Given the description of an element on the screen output the (x, y) to click on. 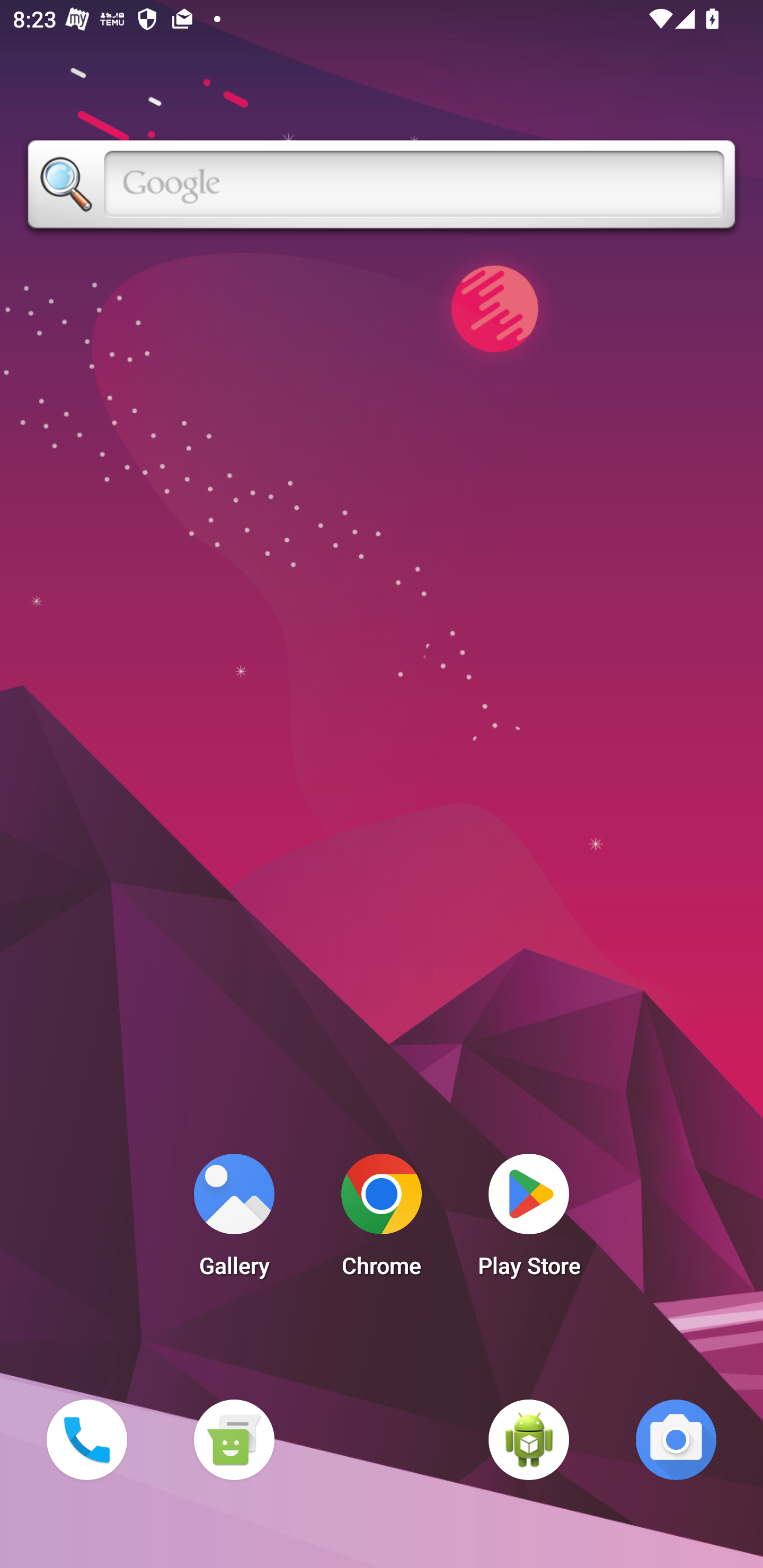
Gallery (233, 1220)
Chrome (381, 1220)
Play Store (528, 1220)
Phone (86, 1439)
Messaging (233, 1439)
WebView Browser Tester (528, 1439)
Camera (676, 1439)
